Given the description of an element on the screen output the (x, y) to click on. 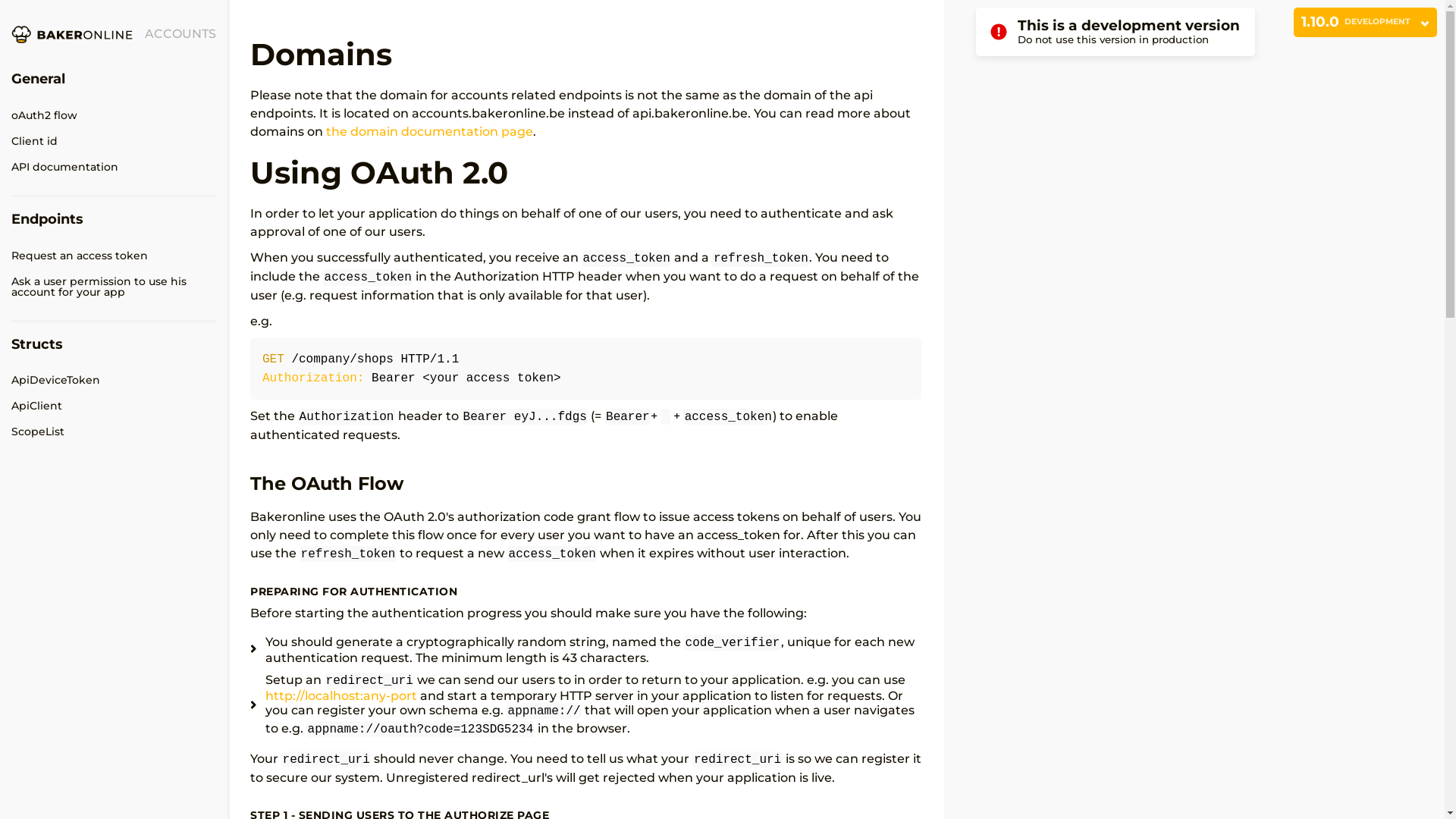
ApiClient Element type: text (113, 405)
Client id Element type: text (113, 140)
Request an access token Element type: text (113, 255)
ApiDeviceToken Element type: text (113, 379)
http://localhost:any-port Element type: text (341, 695)
ScopeList Element type: text (113, 431)
API documentation Element type: text (113, 166)
Ask a user permission to use his account for your app Element type: text (113, 286)
oAuth2 flow Element type: text (113, 115)
the domain documentation page Element type: text (429, 131)
